Given the description of an element on the screen output the (x, y) to click on. 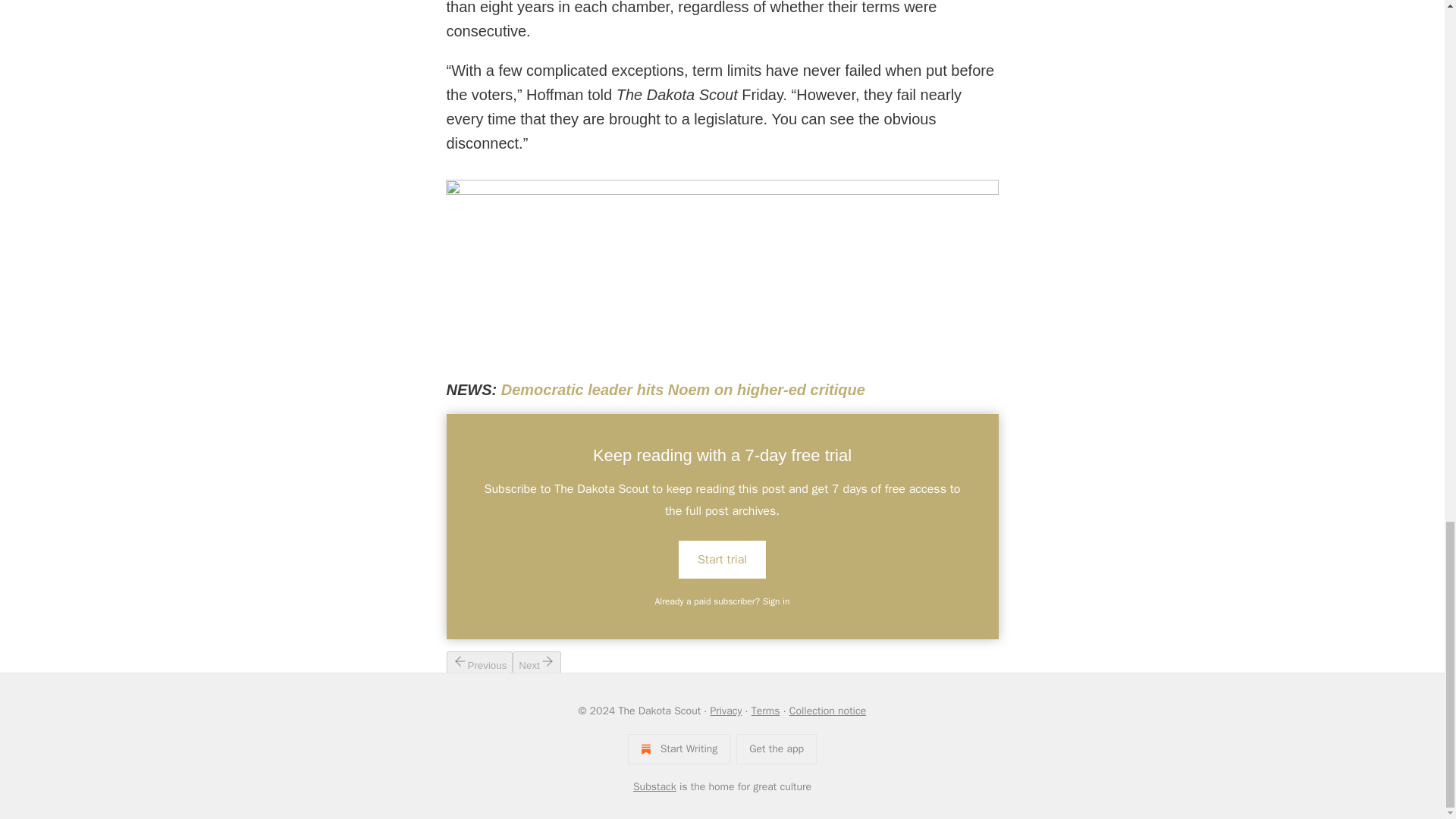
Start trial (721, 559)
Democratic leader hits Noem on higher-ed critique (682, 389)
Previous (478, 662)
Already a paid subscriber? Sign in (722, 601)
Terms (765, 710)
Get the app (776, 748)
Substack (655, 786)
Start Writing (678, 748)
Collection notice (827, 710)
Privacy (725, 710)
